Given the description of an element on the screen output the (x, y) to click on. 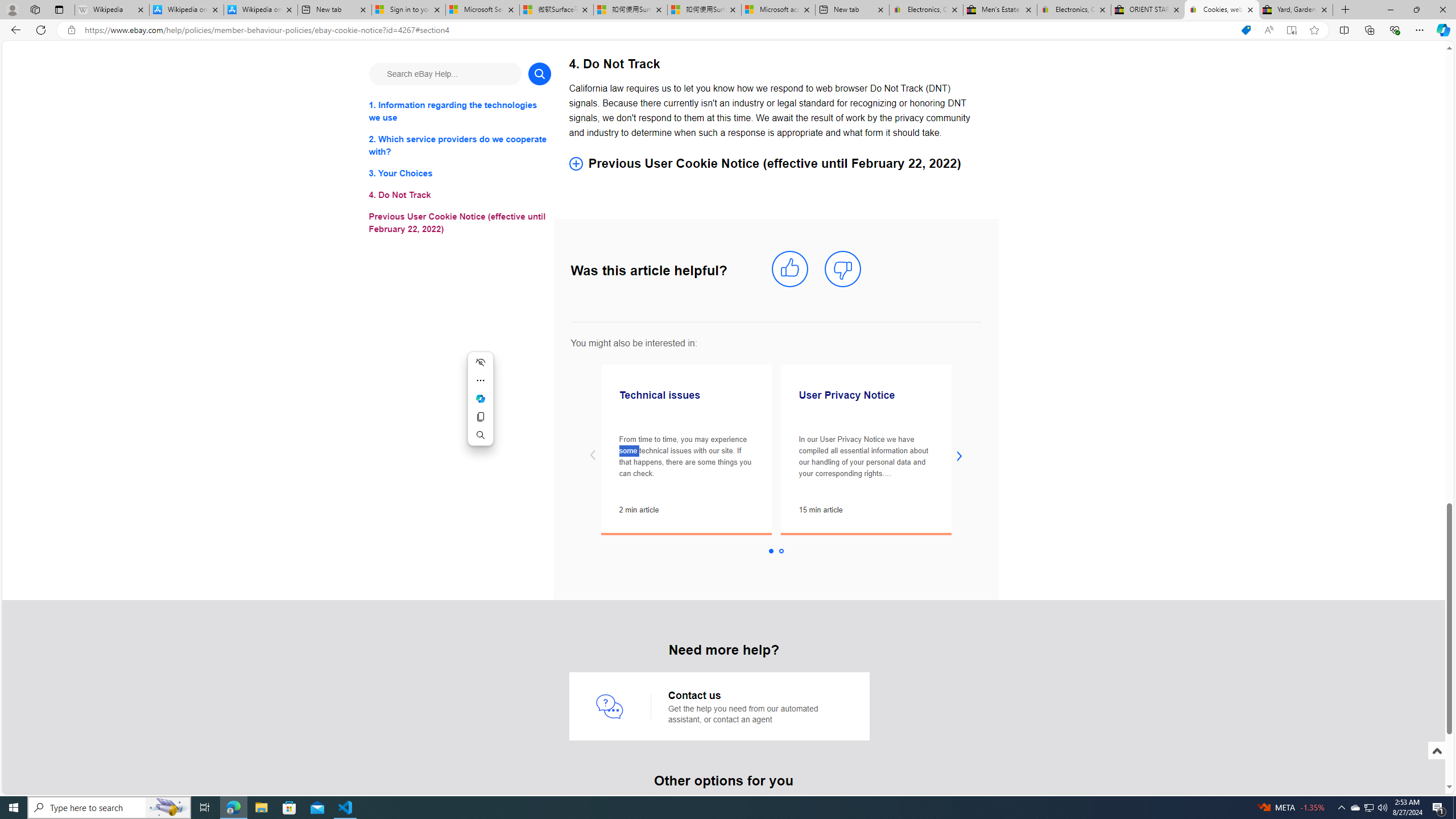
3. Your Choices (459, 173)
Ask Copilot (480, 398)
2. Which service providers do we cooperate with? (459, 145)
Previous slide (592, 455)
Scroll to top (1435, 750)
Hide menu (480, 361)
4. Do Not Track (459, 195)
Slide 2  (780, 550)
